Given the description of an element on the screen output the (x, y) to click on. 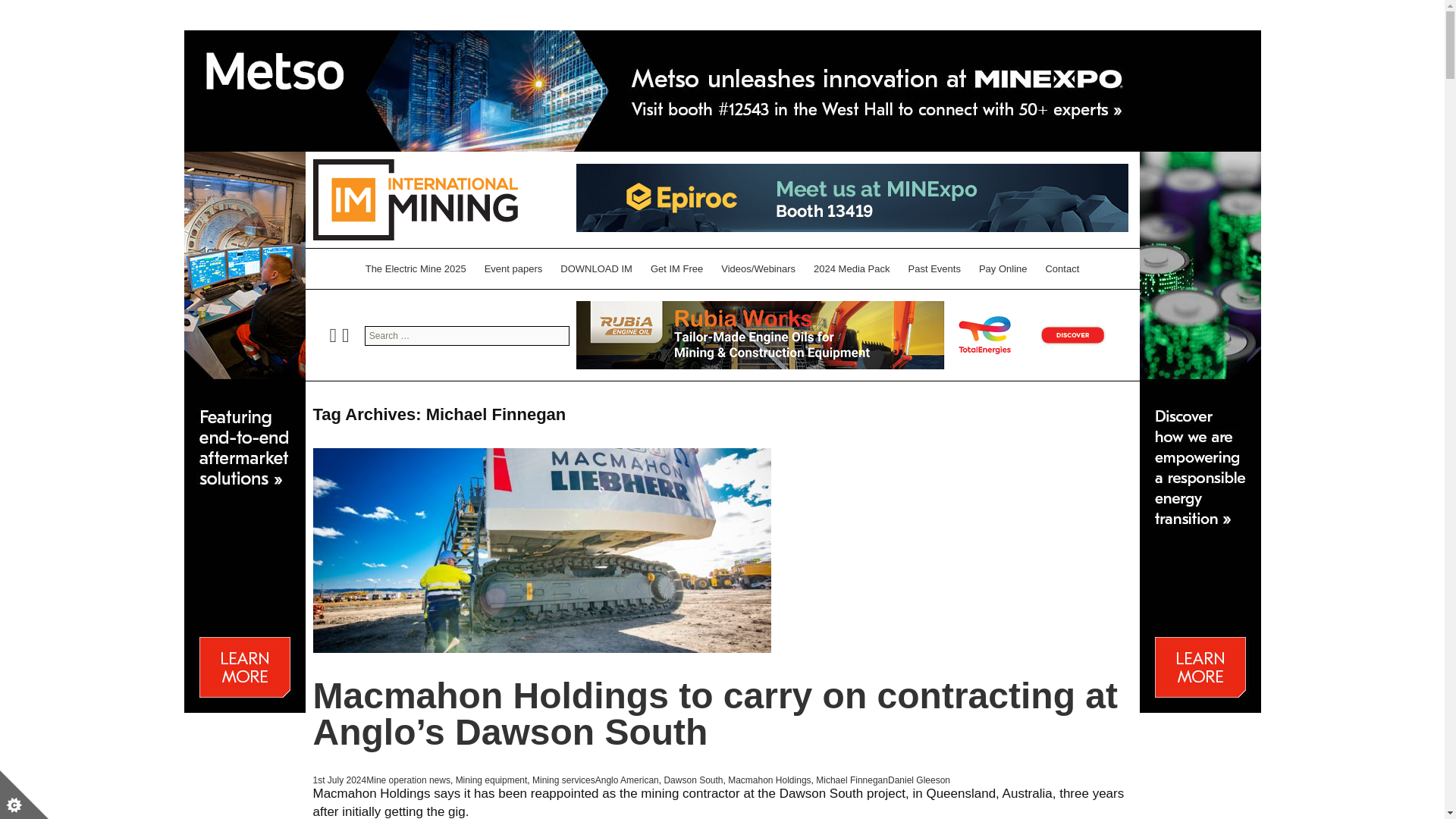
View all posts by Daniel Gleeson (919, 779)
Contact (1062, 268)
2024 Media Pack (851, 268)
Event papers (513, 268)
Get IM Free (676, 268)
Anglo American (627, 779)
Mining equipment (491, 779)
DOWNLOAD IM (596, 268)
The Electric Mine 2025 (415, 268)
Past Events (933, 268)
